Given the description of an element on the screen output the (x, y) to click on. 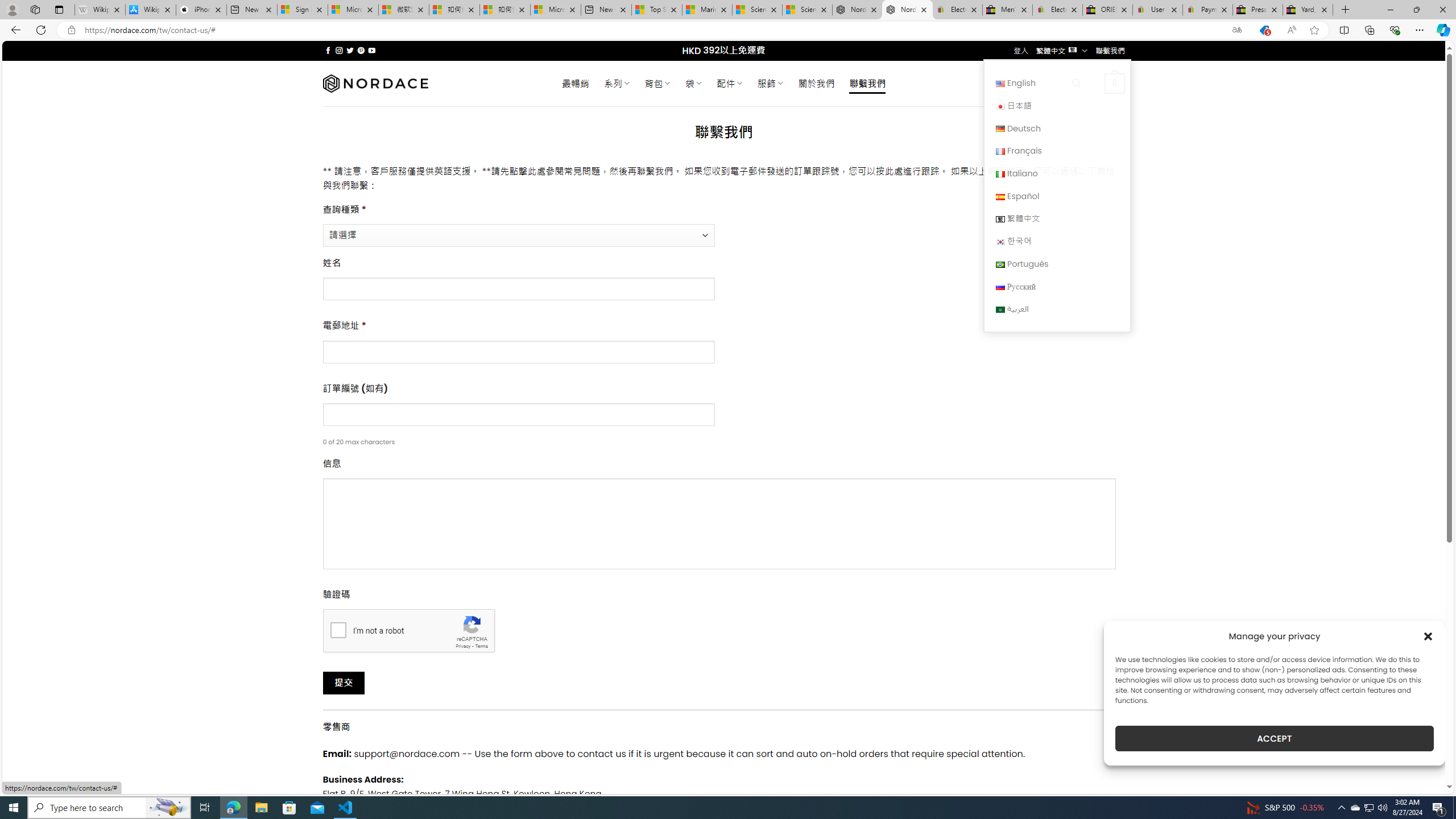
Follow on Facebook (327, 50)
English (999, 83)
Italiano Italiano (1056, 173)
Follow on Pinterest (360, 50)
Show translate options (1236, 29)
